Given the description of an element on the screen output the (x, y) to click on. 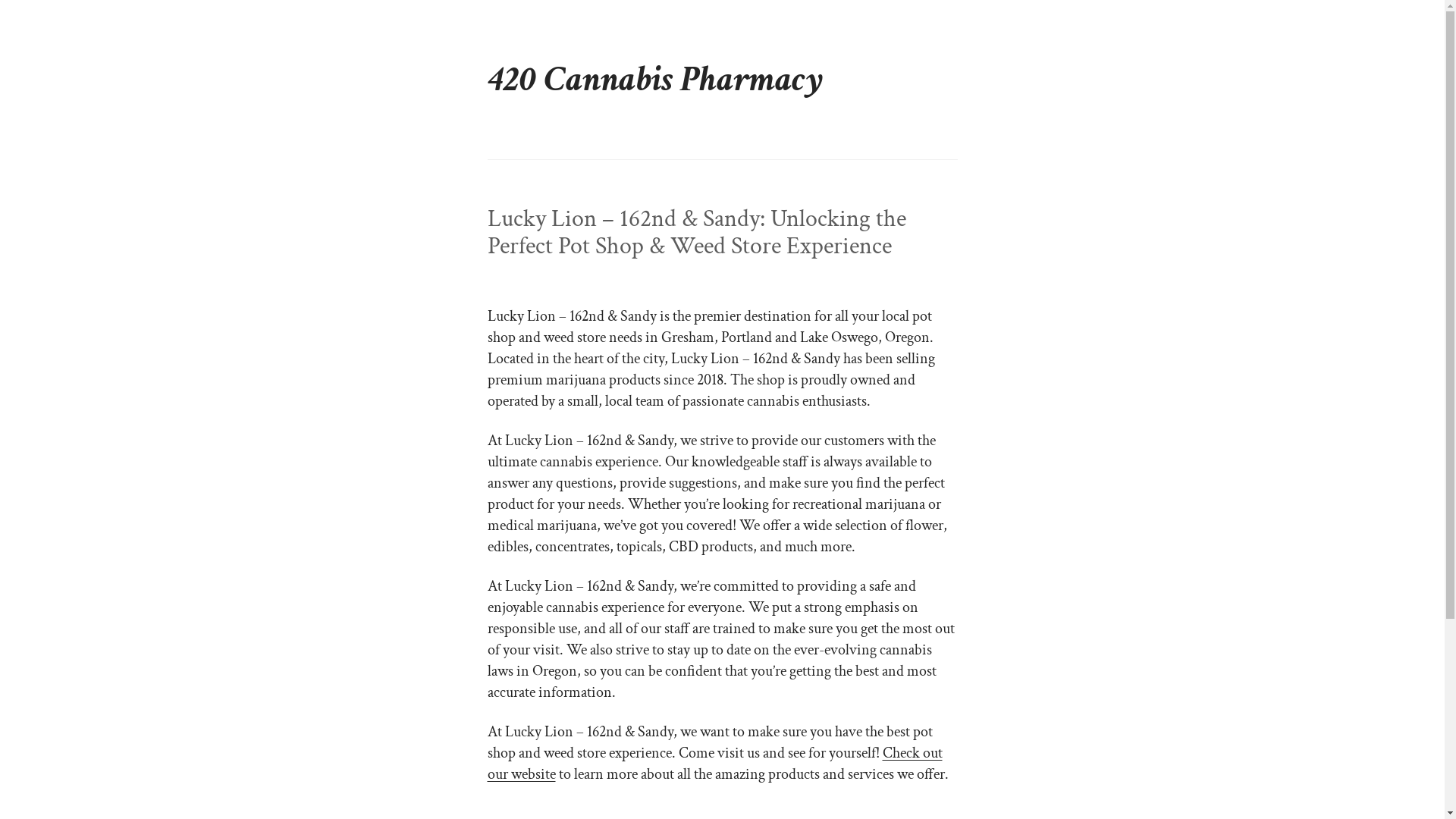
420 Cannabis Pharmacy Element type: text (654, 79)
Check out our website Element type: text (713, 763)
